Given the description of an element on the screen output the (x, y) to click on. 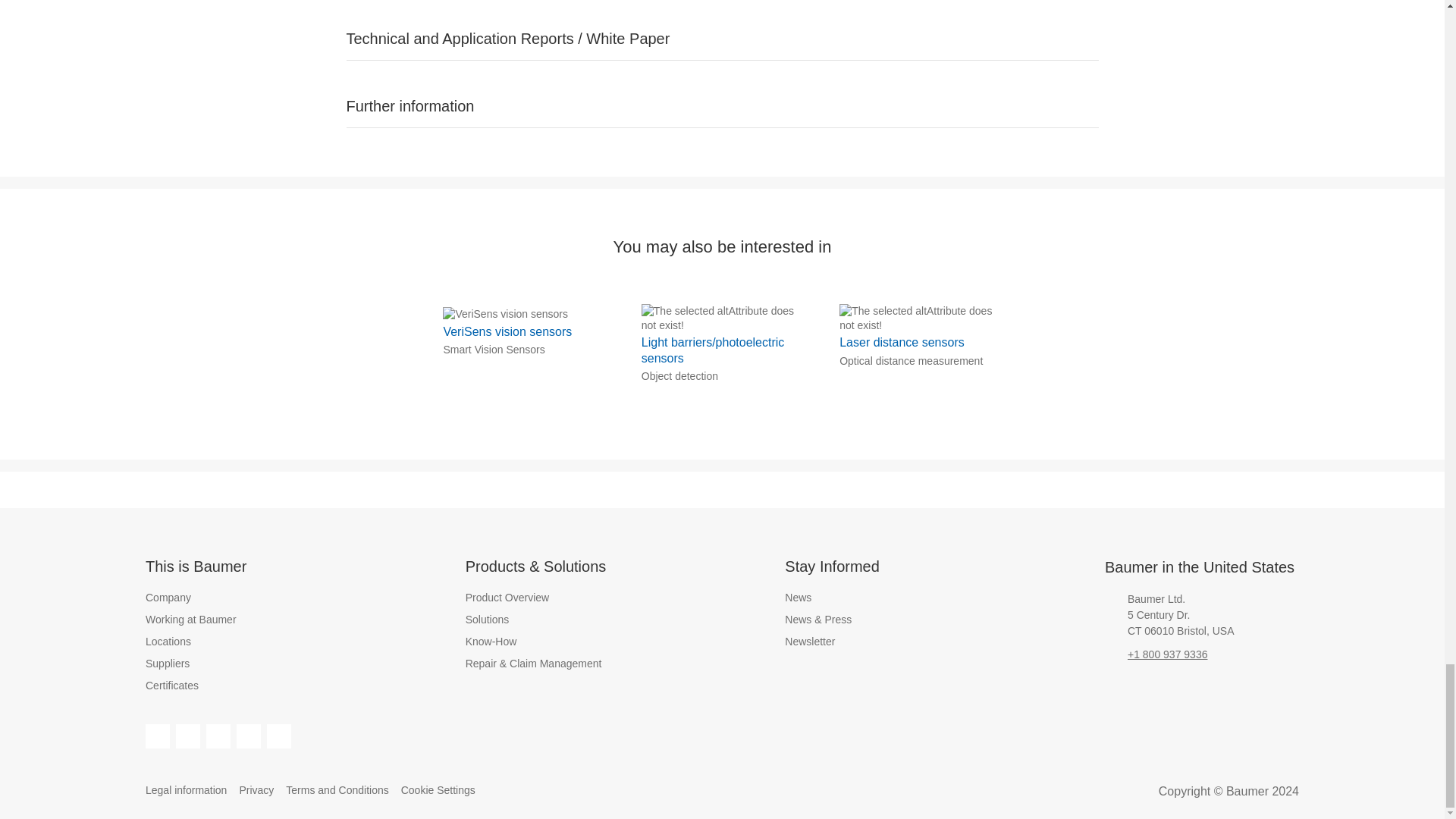
linkedin (188, 735)
xing (247, 735)
instagram (218, 735)
youtube (278, 735)
facebook (157, 735)
